Given the description of an element on the screen output the (x, y) to click on. 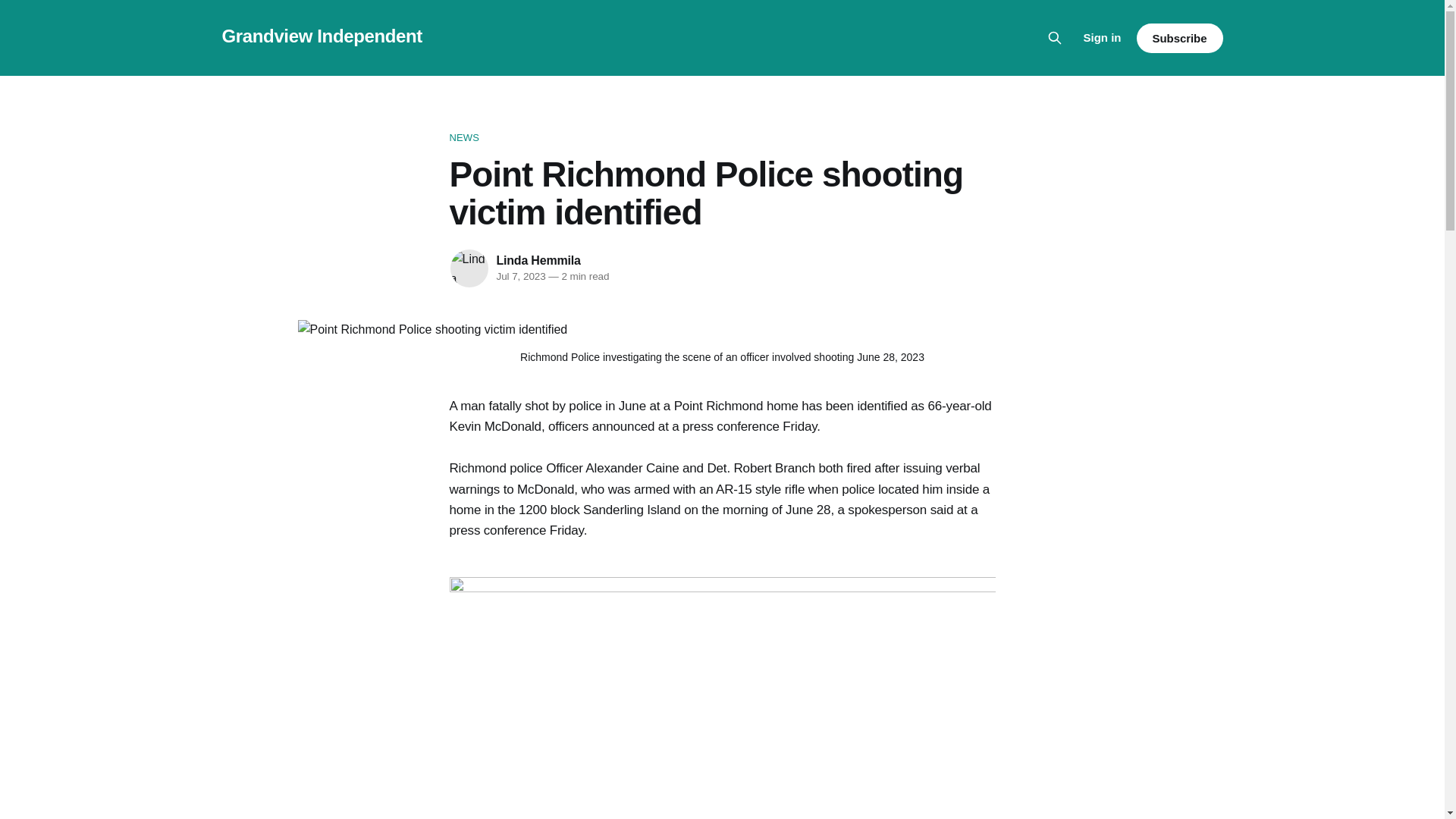
Grandview Independent (321, 35)
Sign in (1102, 37)
Subscribe (1179, 37)
NEWS (721, 138)
Linda Hemmila (537, 259)
